Given the description of an element on the screen output the (x, y) to click on. 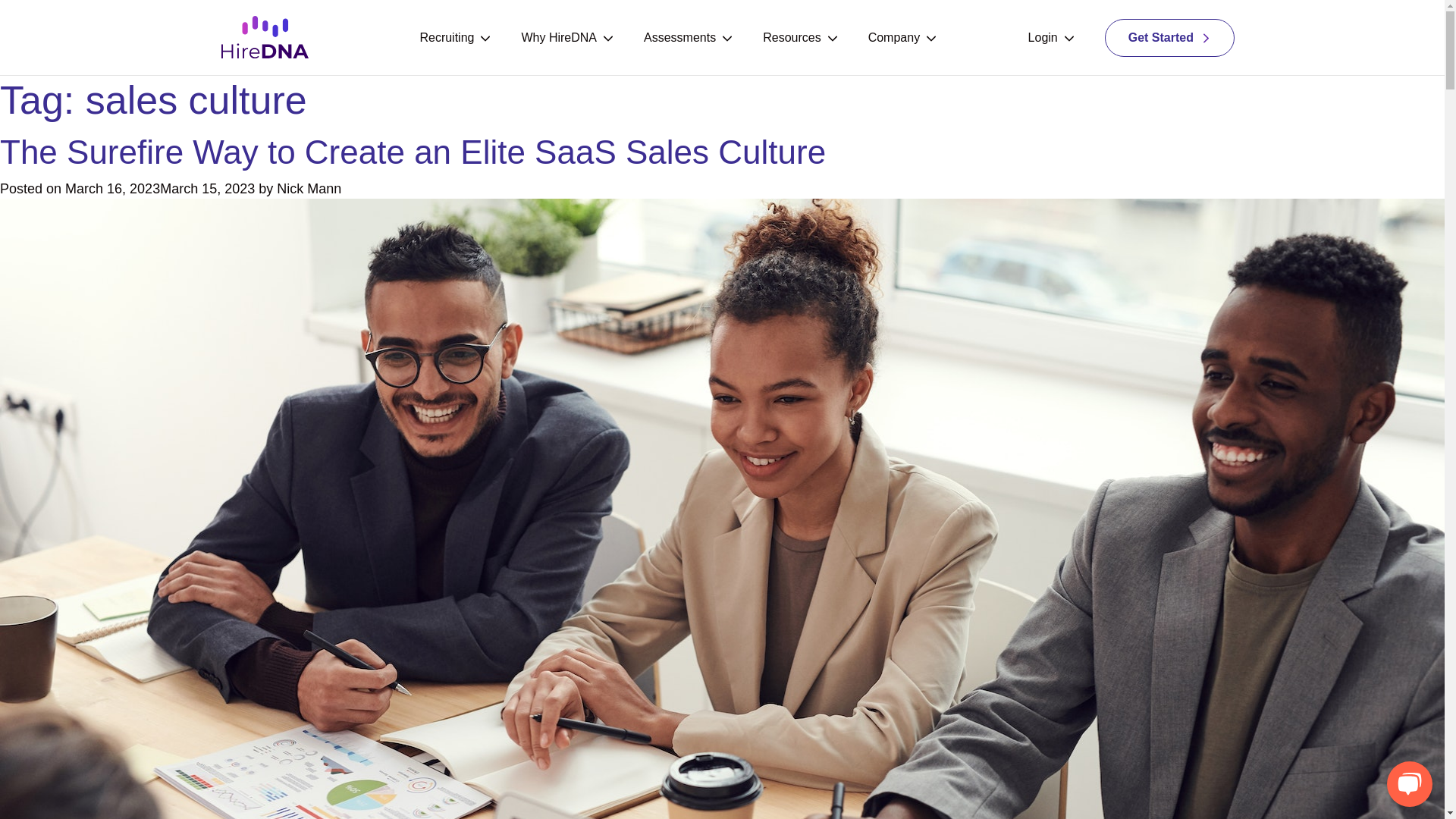
Get Started (1169, 37)
Assessments (687, 38)
Resources (799, 38)
Company (901, 38)
Why HireDNA (566, 38)
Recruiting (454, 38)
